Given the description of an element on the screen output the (x, y) to click on. 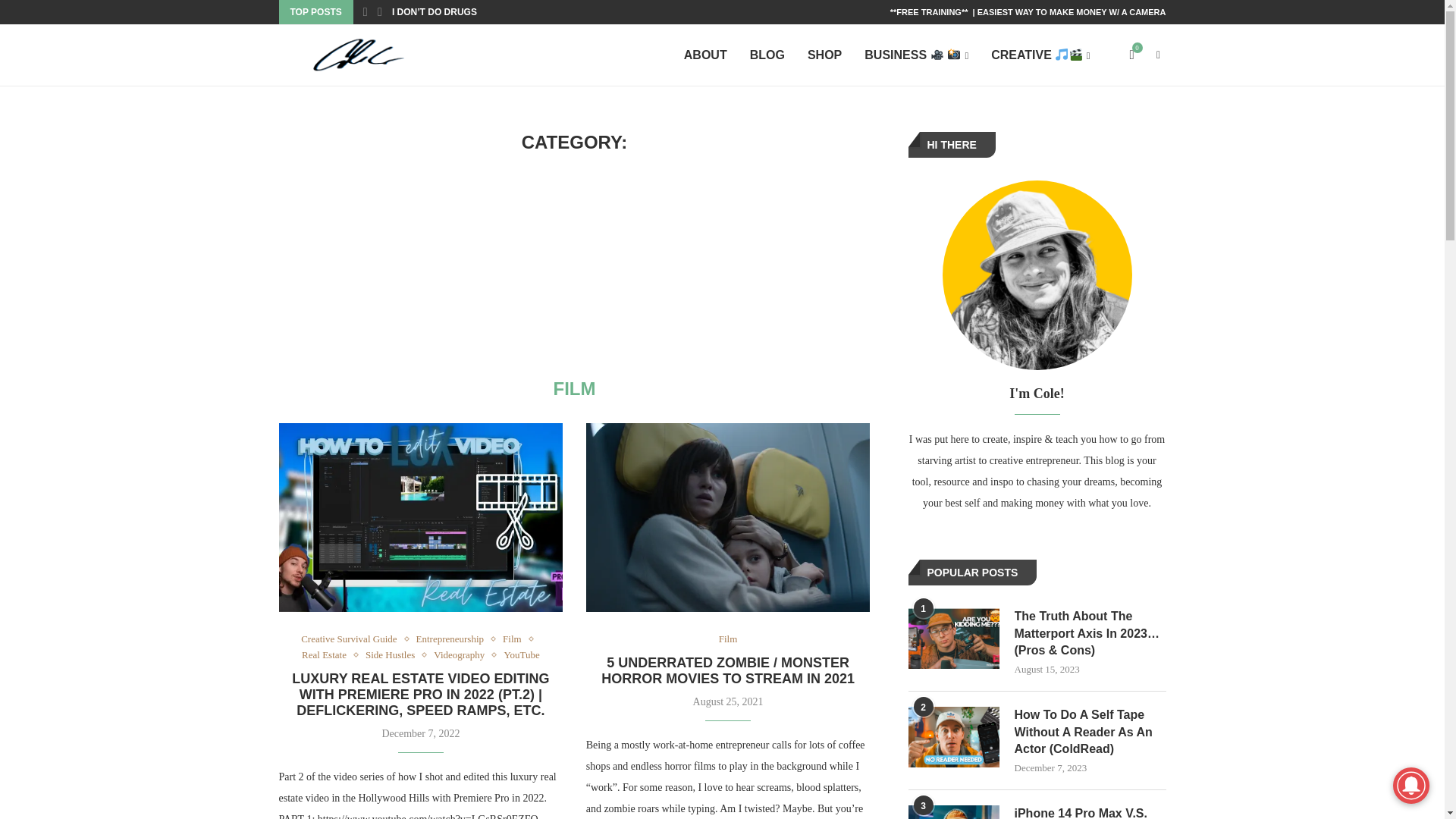
Advertisement (574, 267)
BUSINESS (916, 55)
CREATIVE (1040, 55)
